Given the description of an element on the screen output the (x, y) to click on. 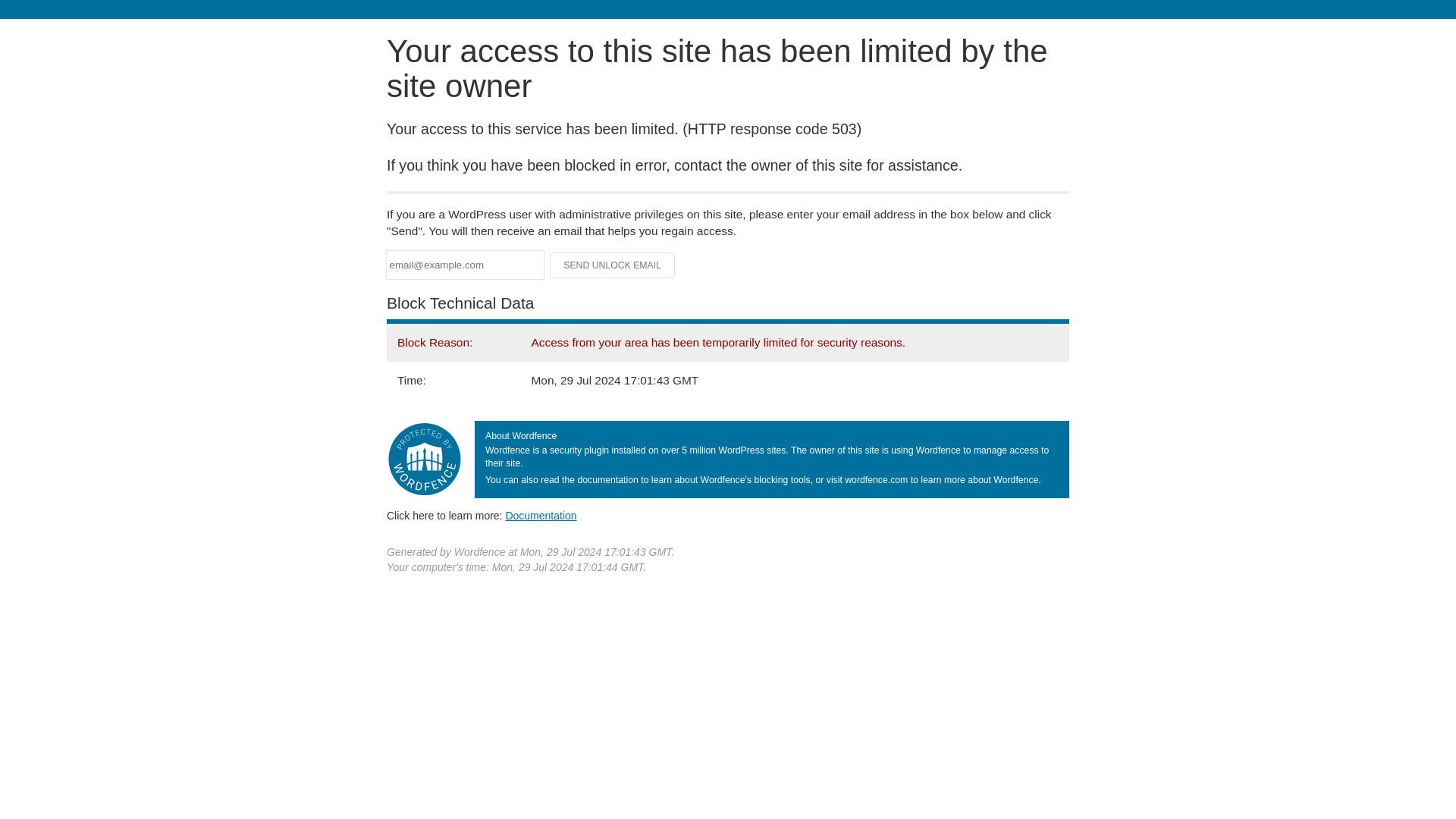
Send Unlock Email (612, 265)
Documentation (540, 515)
Send Unlock Email (612, 265)
